Given the description of an element on the screen output the (x, y) to click on. 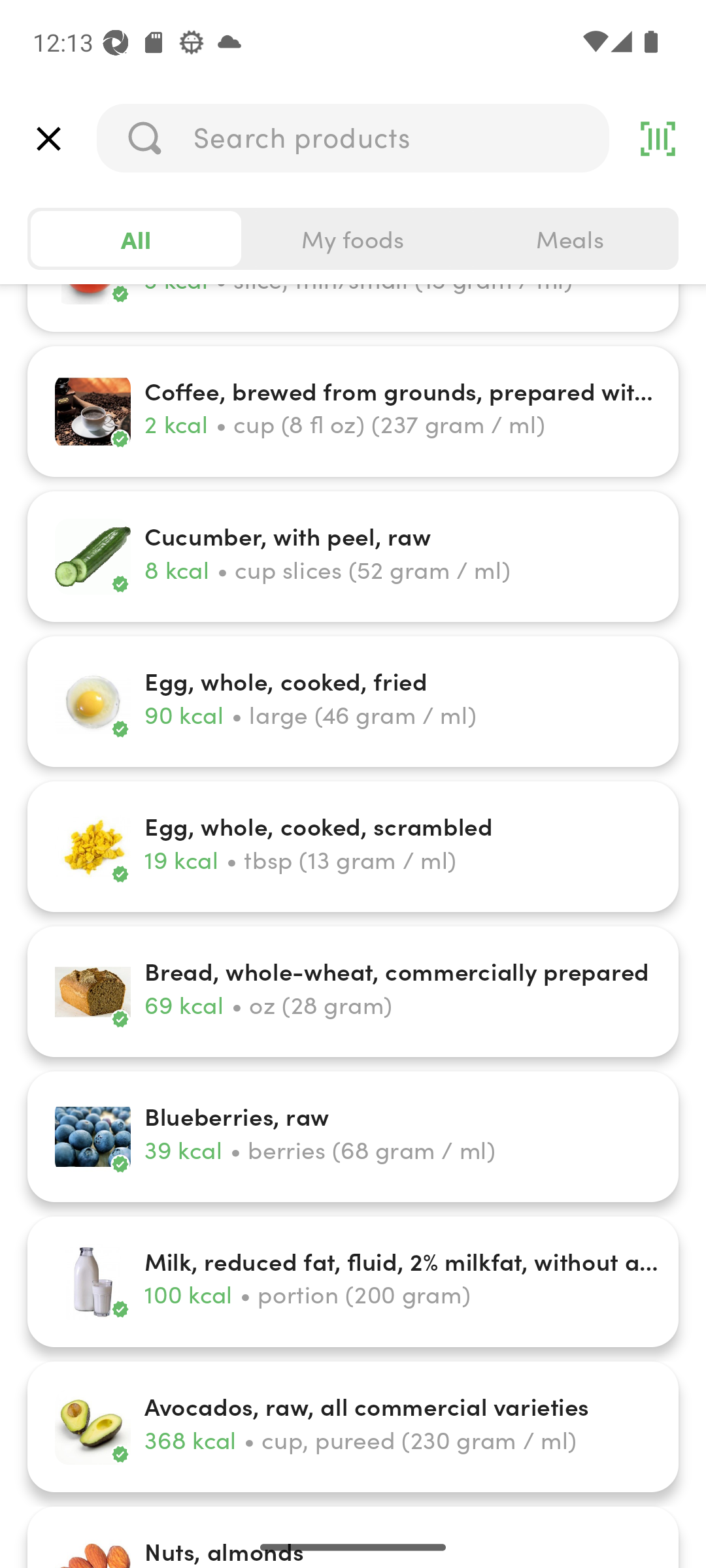
top_left_action (48, 138)
top_right_action (658, 138)
My foods (352, 238)
Meals (569, 238)
Blueberries, raw 39 kcal  • berries (68 gram / ml) (352, 1136)
